Given the description of an element on the screen output the (x, y) to click on. 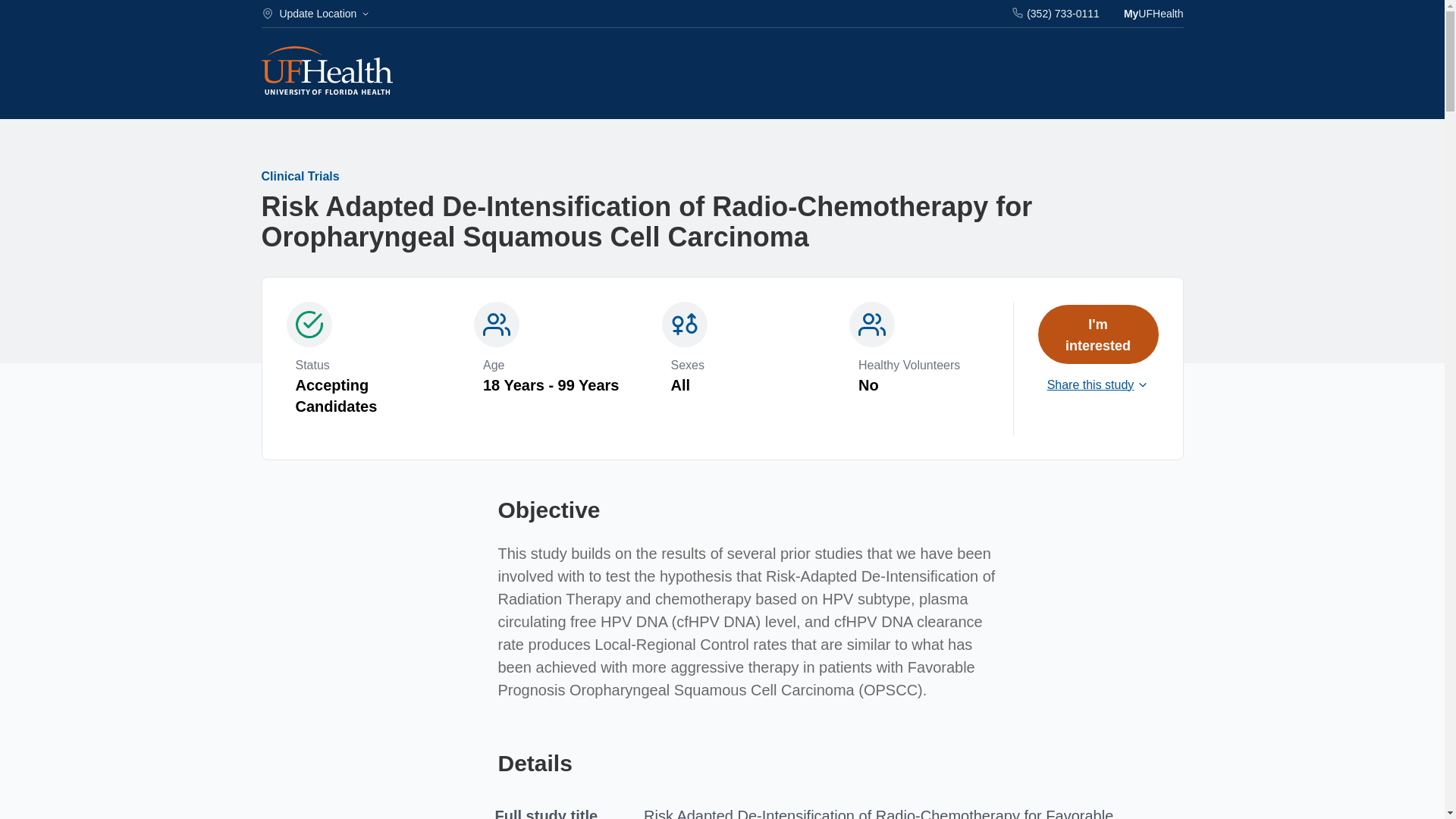
UF Health Home (325, 72)
I'm interested (1096, 333)
Clinical Trials (299, 175)
MyUFHealth (1153, 13)
